Given the description of an element on the screen output the (x, y) to click on. 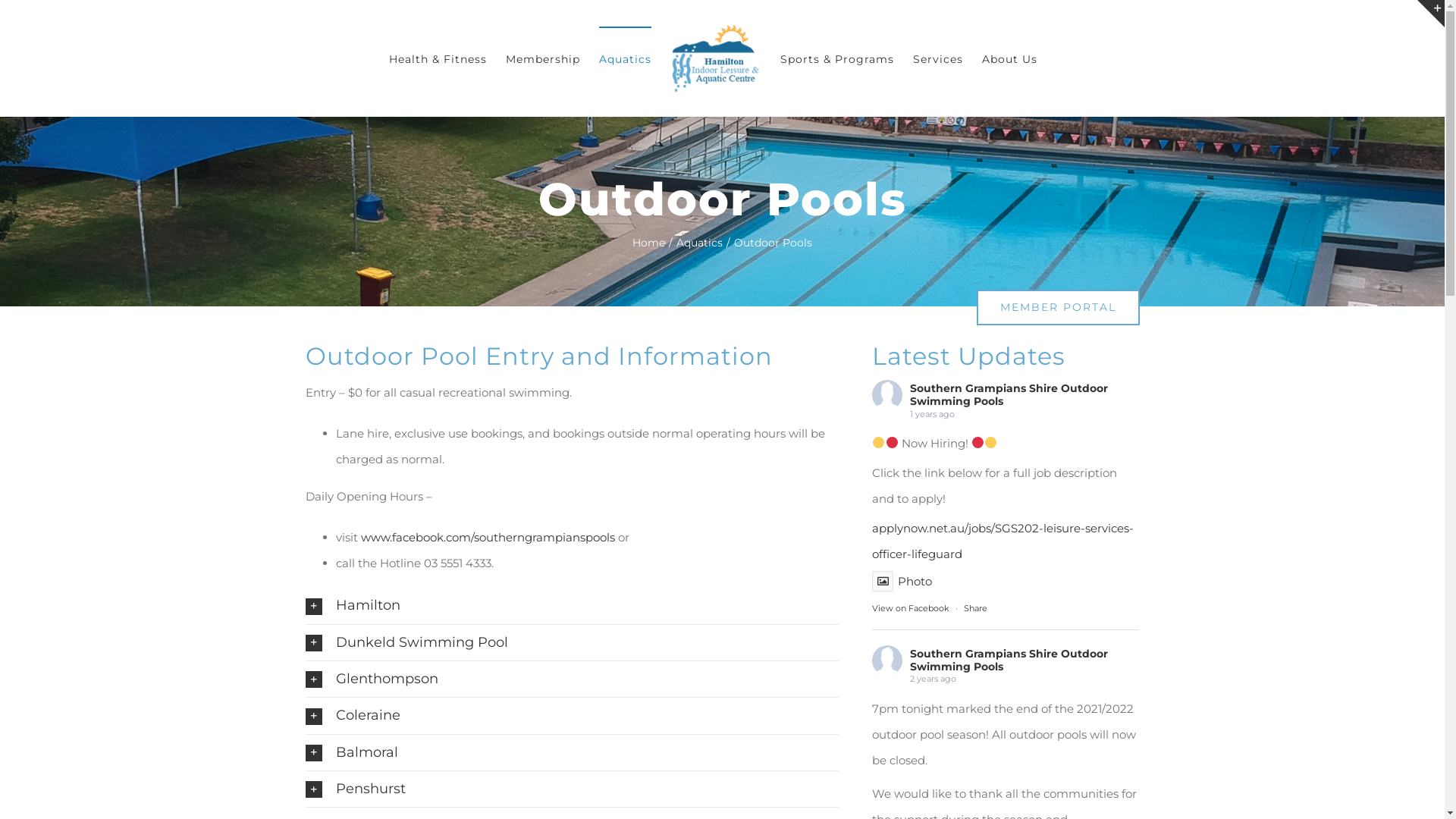
Glenthompson Element type: text (571, 678)
View on Facebook Element type: text (910, 607)
Dunkeld Swimming Pool Element type: text (571, 642)
Toggle Sliding Bar Area Element type: text (1430, 13)
Hamilton Element type: text (571, 605)
www.facebook.com/southerngrampianspools Element type: text (487, 537)
Share Element type: text (975, 607)
Aquatics Element type: text (699, 242)
Home Element type: text (648, 242)
Southern Grampians Shire Outdoor Swimming Pools Element type: text (1008, 394)
MEMBER PORTAL Element type: text (1057, 307)
Health & Fitness Element type: text (437, 58)
Balmoral Element type: text (571, 752)
Services Element type: text (938, 58)
Penshurst Element type: text (571, 788)
Coleraine Element type: text (571, 715)
About Us Element type: text (1008, 58)
Photo Element type: text (901, 581)
Southern Grampians Shire Outdoor Swimming Pools Element type: text (1008, 659)
Aquatics Element type: text (625, 58)
Membership Element type: text (542, 58)
Sports & Programs Element type: text (836, 58)
